Given the description of an element on the screen output the (x, y) to click on. 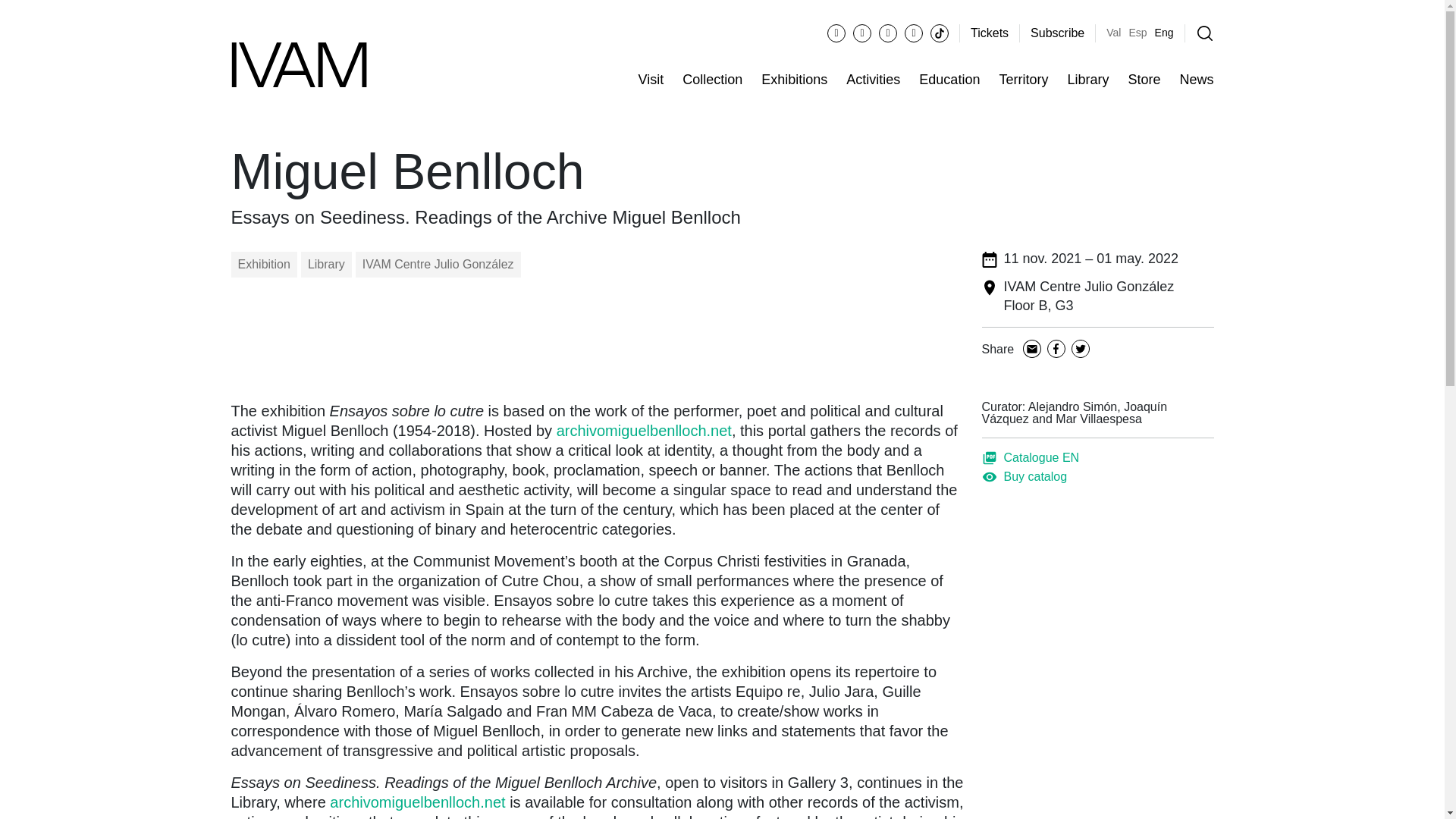
Subscribe (1057, 33)
Esp (1137, 32)
Exhibitions (794, 79)
Education (948, 79)
Library (1087, 79)
Territory (1023, 79)
Email (1031, 349)
Val (1113, 32)
Activities (872, 79)
Twitter (1080, 349)
